Given the description of an element on the screen output the (x, y) to click on. 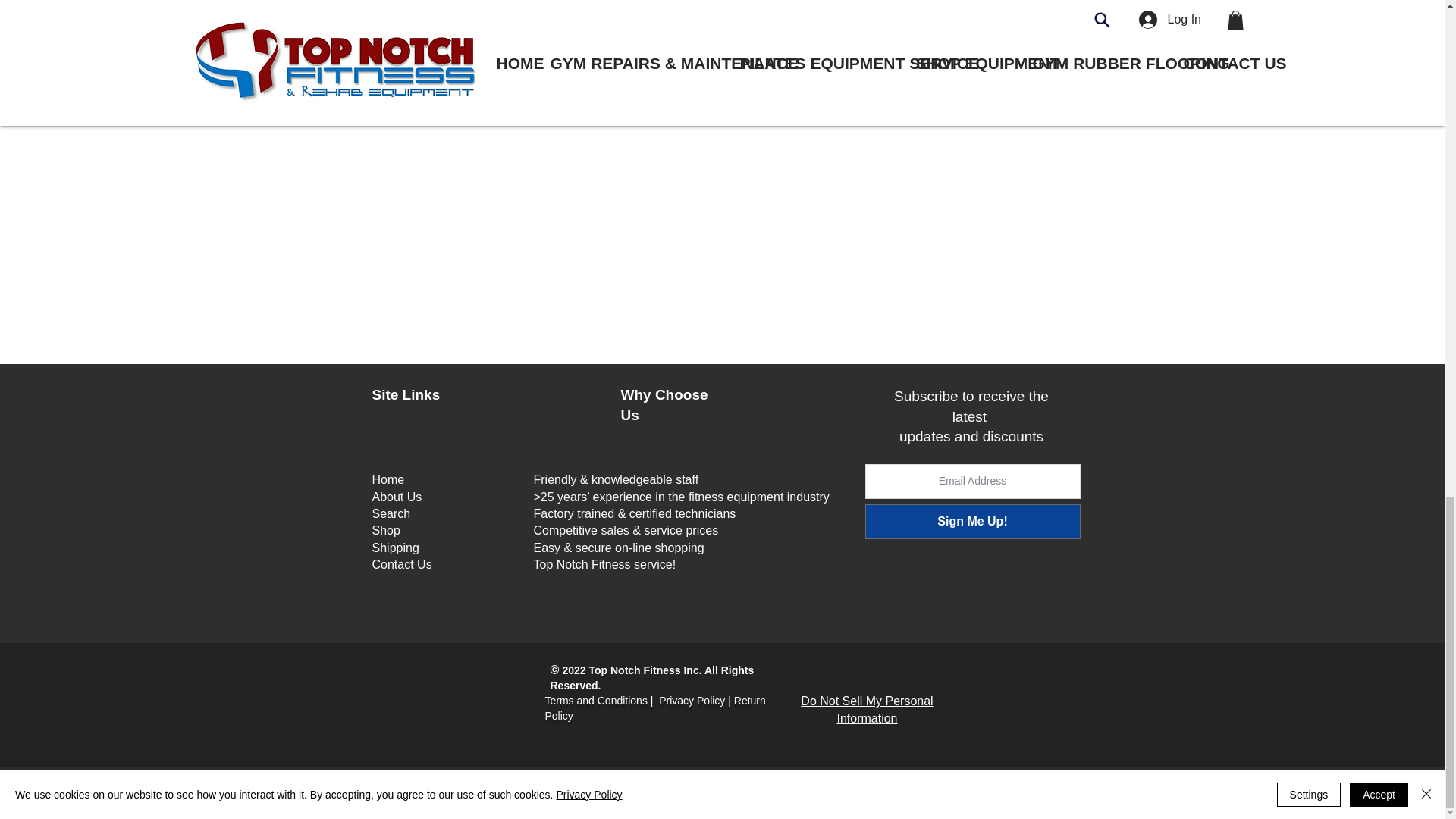
Home (387, 479)
